Given the description of an element on the screen output the (x, y) to click on. 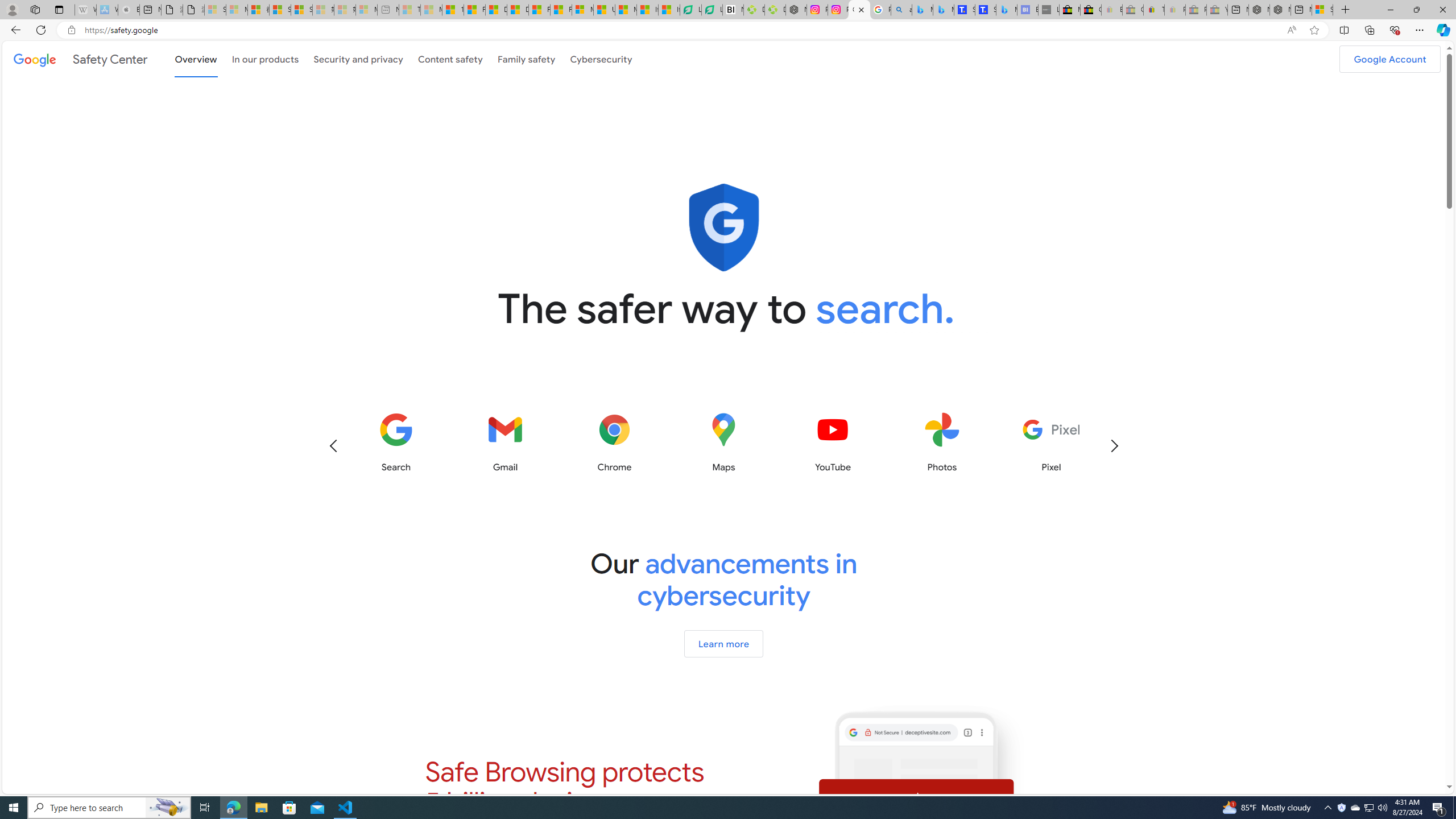
Maps (723, 443)
In our products (265, 58)
Sign in to your Microsoft account (1322, 9)
